Given the description of an element on the screen output the (x, y) to click on. 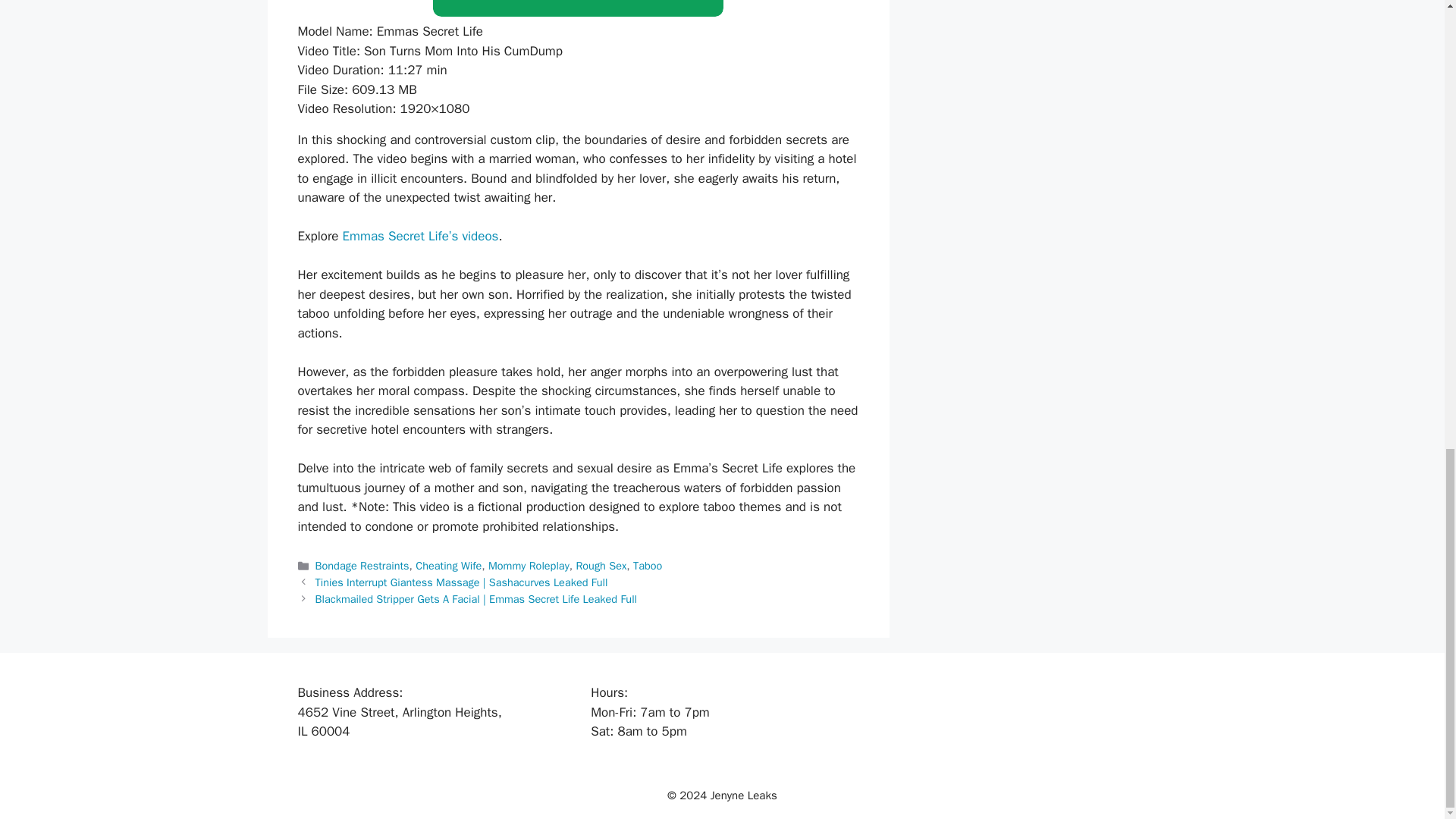
Mommy Roleplay (528, 565)
Cheating Wife (447, 565)
Rough Sex (600, 565)
Taboo (647, 565)
Bondage Restraints (362, 565)
